Given the description of an element on the screen output the (x, y) to click on. 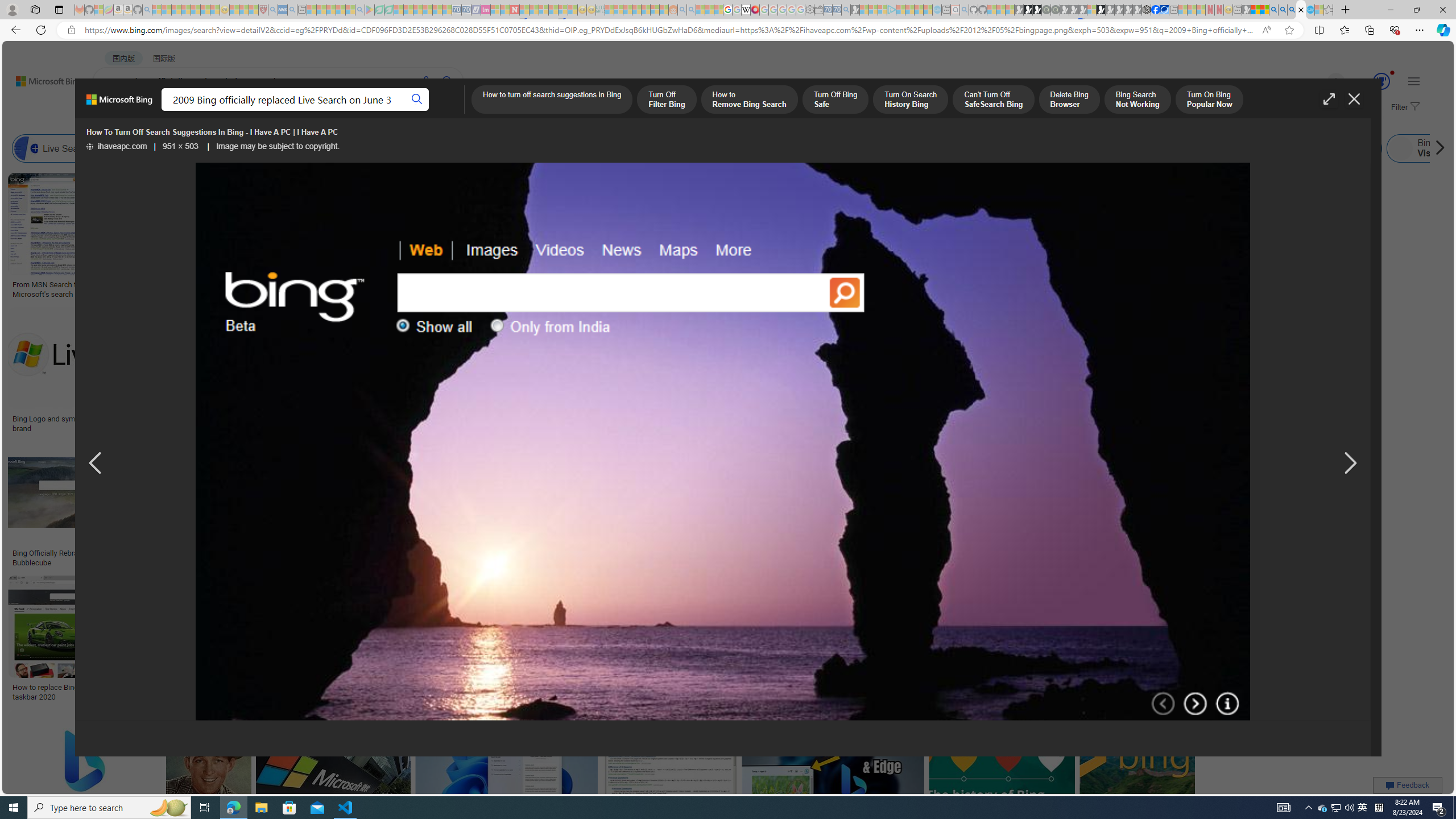
Microsoft Bing, Back to Bing search (118, 104)
AutomationID: rh_meter (1381, 80)
Sign in to your account - Sleeping (1090, 9)
Can't Turn Off SafeSearch Bing (993, 100)
How to replace Bing in Windows 10 search on the taskbar 2020 (93, 691)
Bing Logo and symbol, meaning, history, PNG, brand (97, 423)
MSN Homepage Bing Search Engine (815, 148)
